Given the description of an element on the screen output the (x, y) to click on. 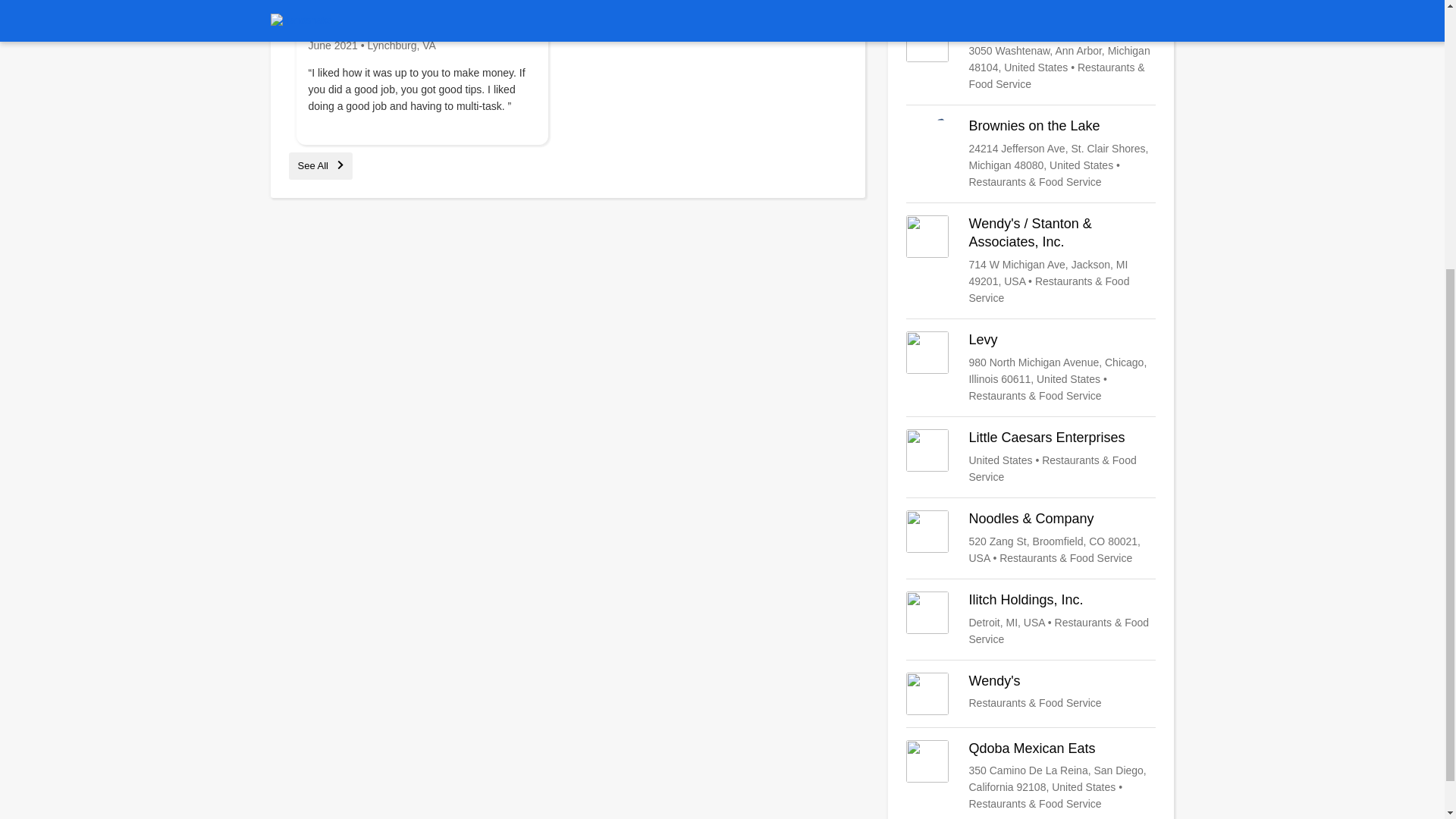
Levy (1030, 367)
See All (320, 165)
Little Caesars Enterprises (1030, 457)
Wendy's (1030, 693)
Bigalora Wood Fired Cucina (1030, 55)
Brownies on the Lake (1030, 153)
Ilitch Holdings, Inc. (1030, 619)
Qdoba Mexican Eats (1030, 776)
